Given the description of an element on the screen output the (x, y) to click on. 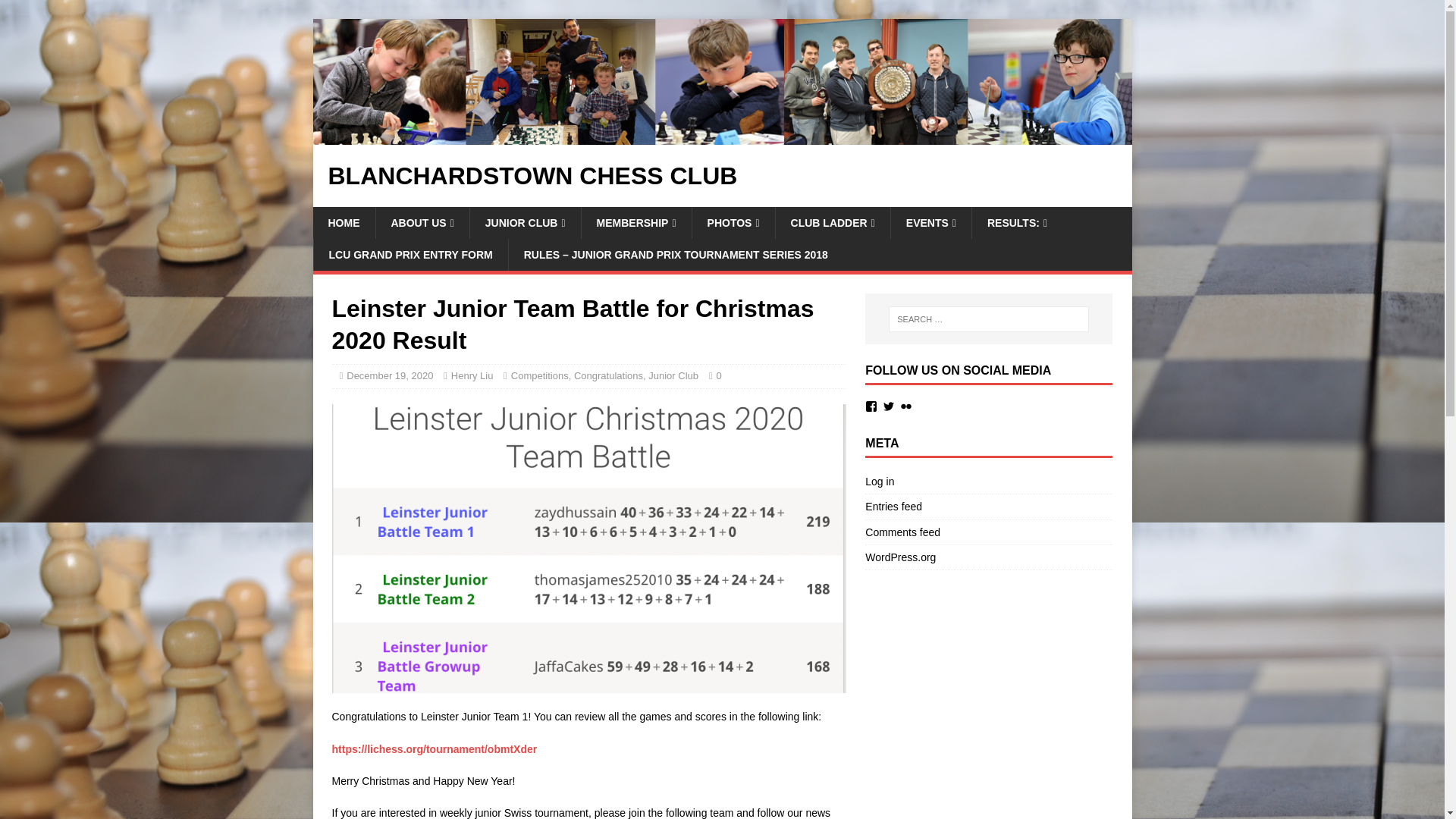
Blanchardstown Chess Club (721, 175)
Blanchardstown Chess Club (722, 135)
BLANCHARDSTOWN CHESS CLUB (721, 175)
